Given the description of an element on the screen output the (x, y) to click on. 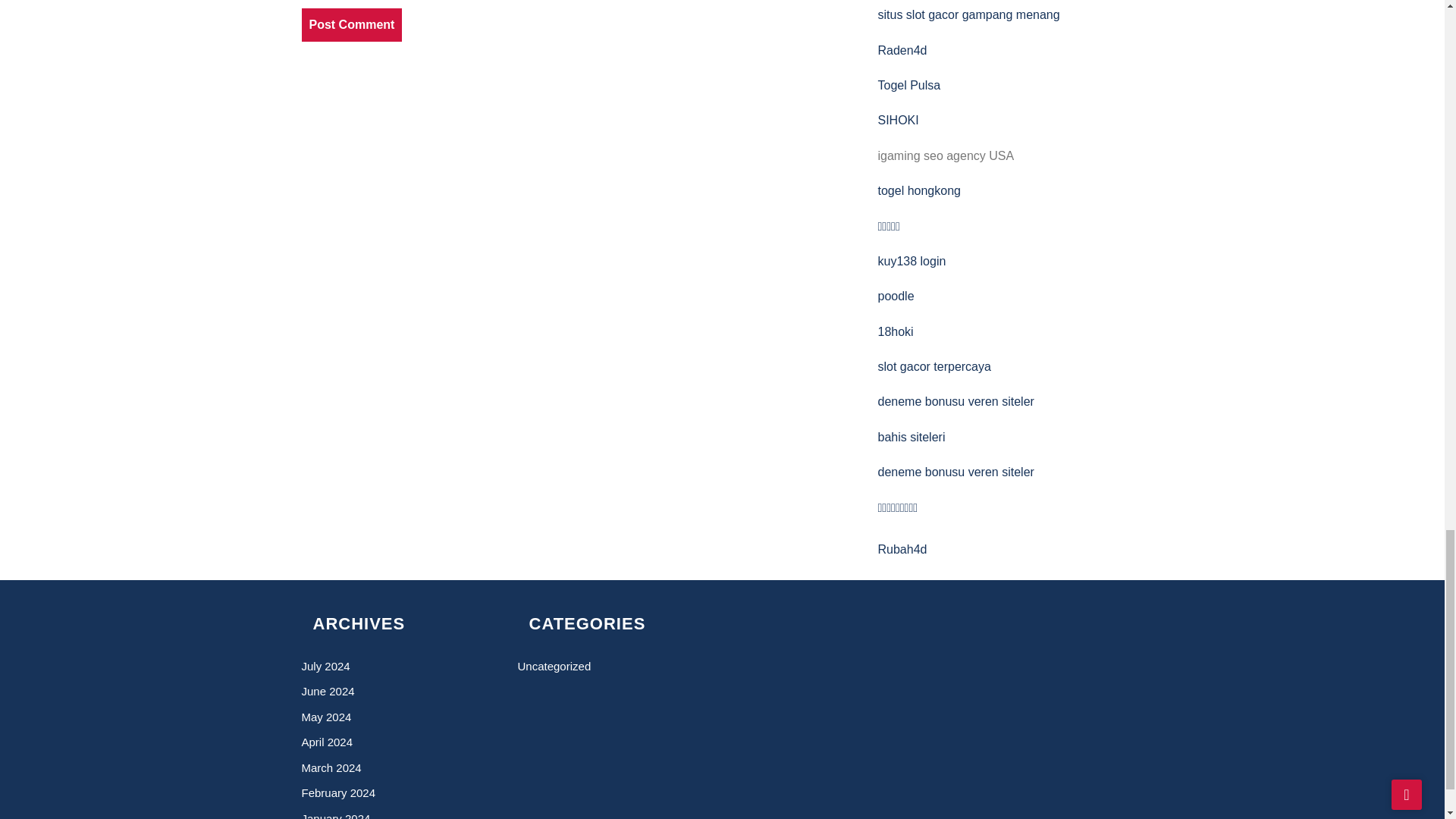
Post Comment (352, 24)
Post Comment (352, 24)
